Given the description of an element on the screen output the (x, y) to click on. 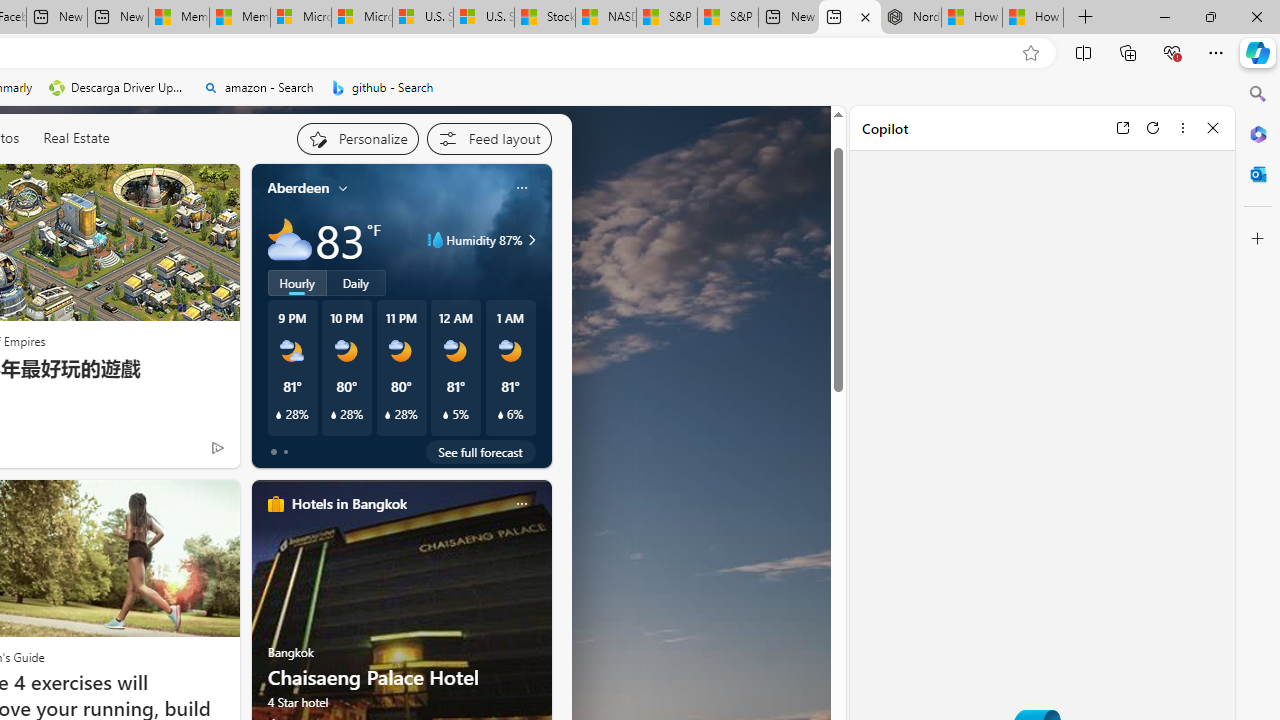
Feed settings (488, 138)
